Given the description of an element on the screen output the (x, y) to click on. 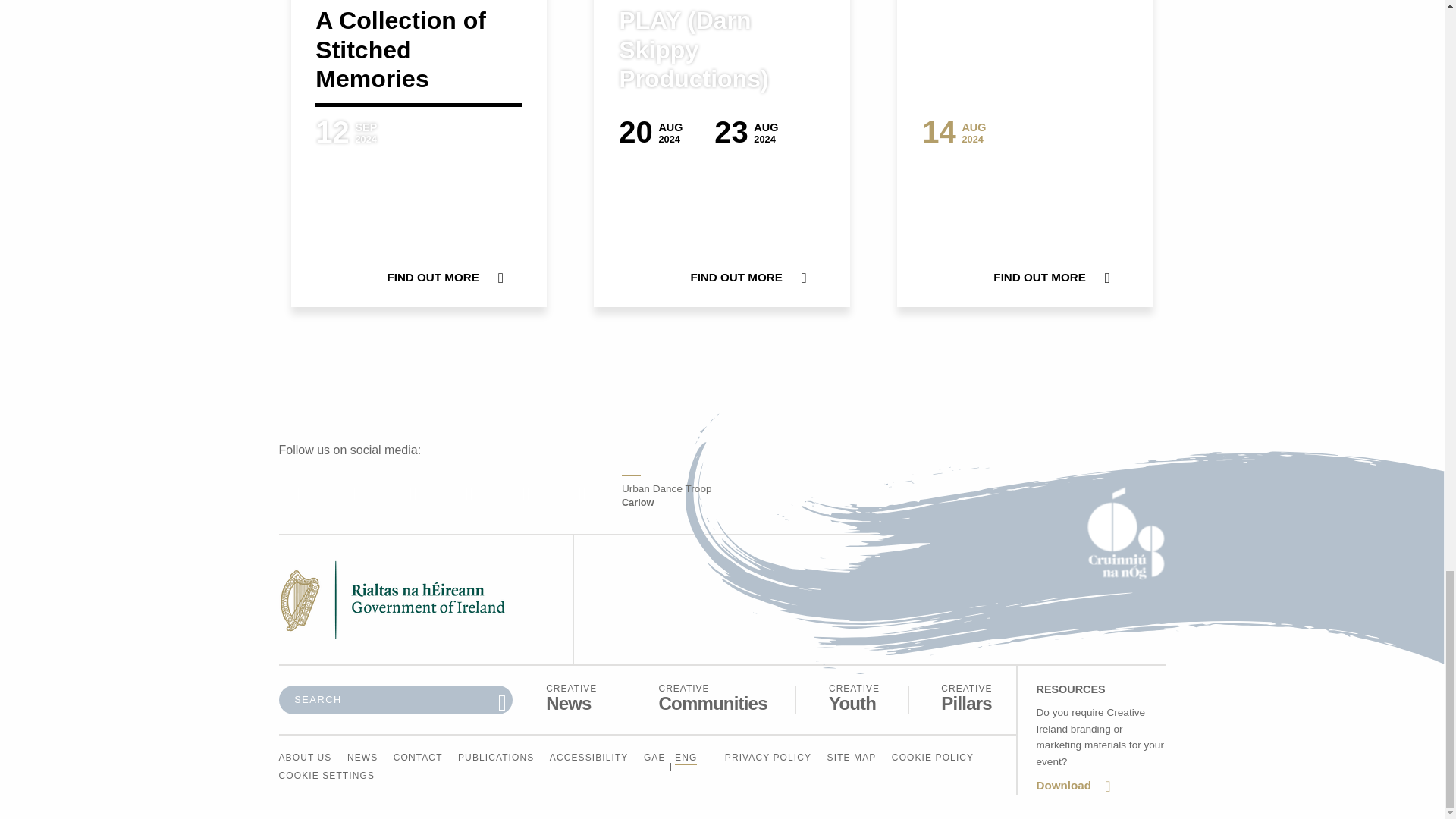
Soundcloud (525, 493)
Youtube (356, 493)
Facebook (571, 698)
Twitter (853, 698)
Soundcloud (300, 493)
Instagram (412, 493)
Gaeilge (712, 698)
English (582, 493)
